Given the description of an element on the screen output the (x, y) to click on. 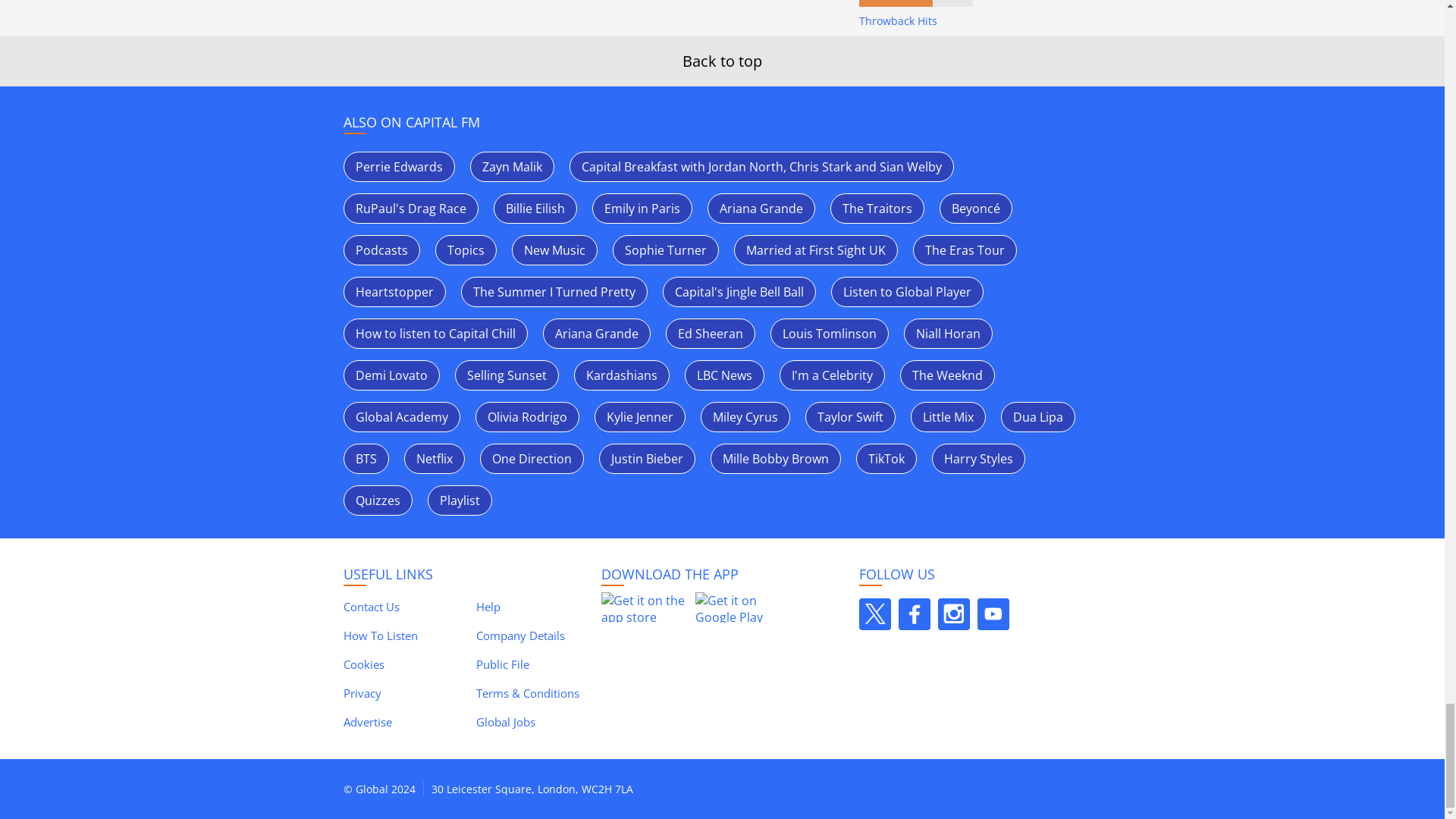
Follow Capital on X (874, 613)
Follow Capital on Facebook (914, 613)
Back to top (721, 60)
Follow Capital on Instagram (953, 613)
Follow Capital on Youtube (992, 613)
